Given the description of an element on the screen output the (x, y) to click on. 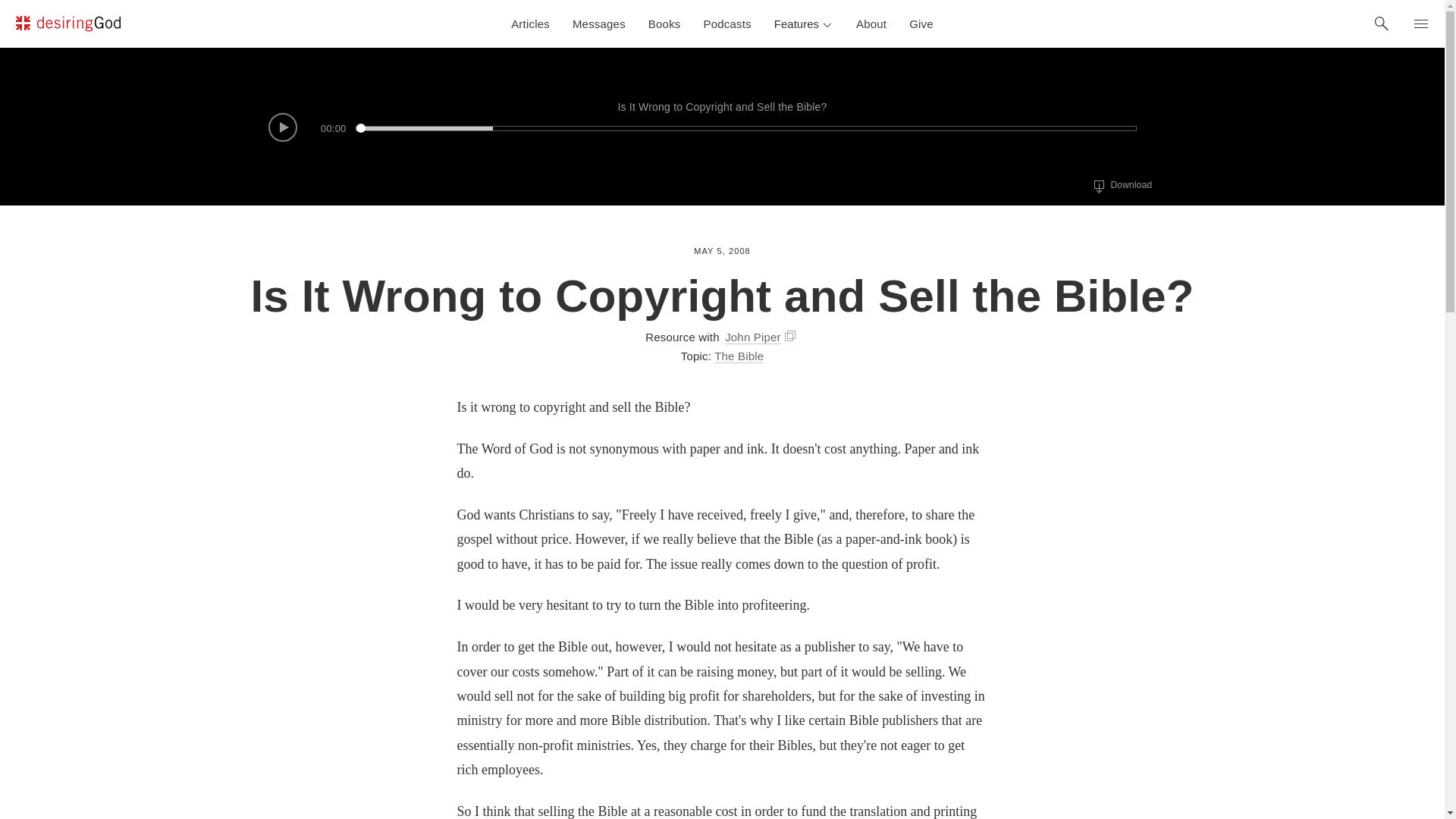
Messages (598, 23)
Desiring God Logo (67, 25)
Desiring God Logo (67, 23)
Features (1122, 185)
Articles (803, 23)
Modal (529, 23)
Podcasts (790, 335)
About (727, 23)
Books (871, 23)
Give (665, 23)
Download (921, 23)
